Given the description of an element on the screen output the (x, y) to click on. 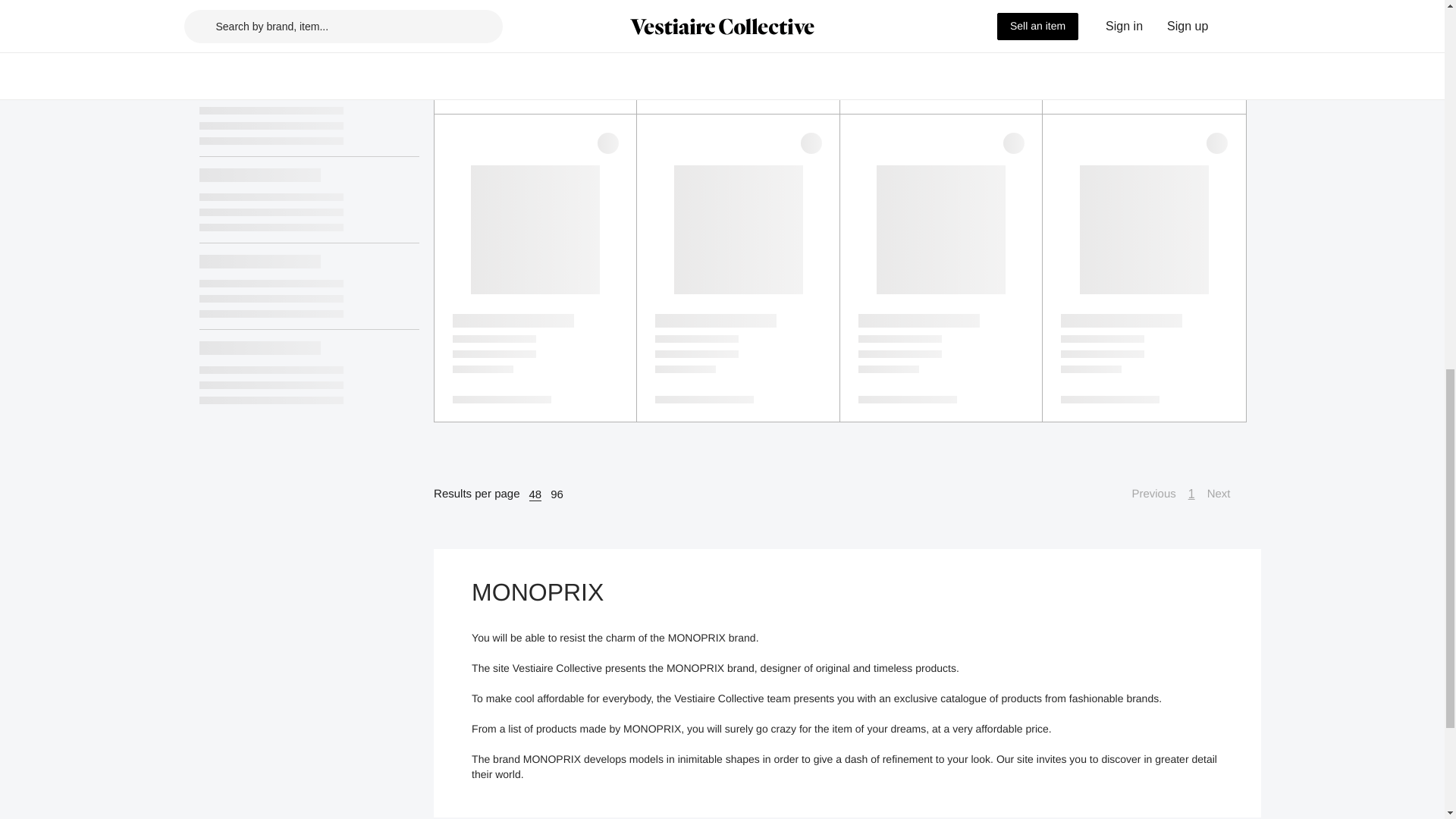
48 (535, 494)
Previous (1145, 494)
Next (1226, 494)
96 (556, 494)
